Given the description of an element on the screen output the (x, y) to click on. 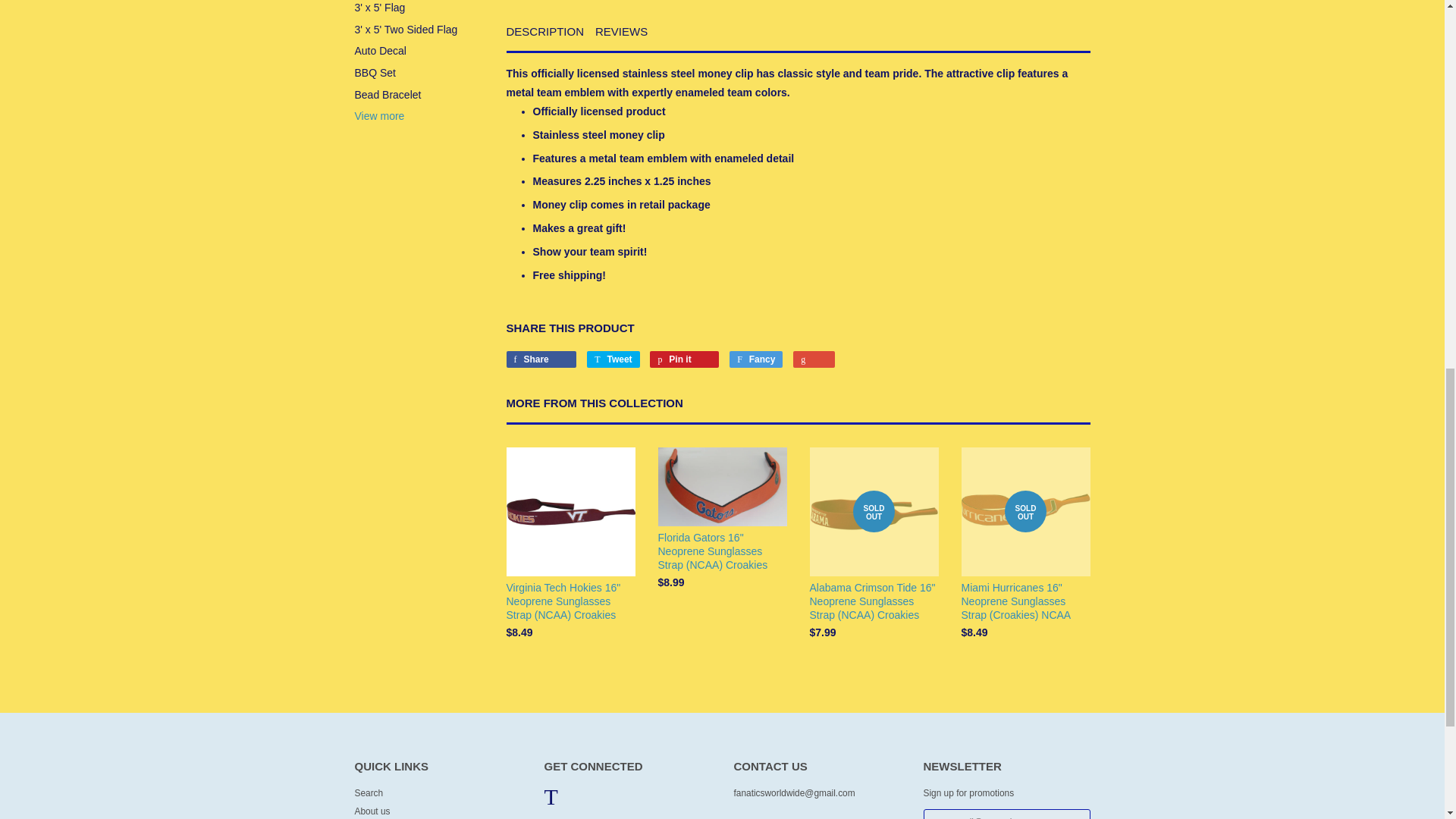
Fanaticsworldwide on Twitter (550, 801)
